Given the description of an element on the screen output the (x, y) to click on. 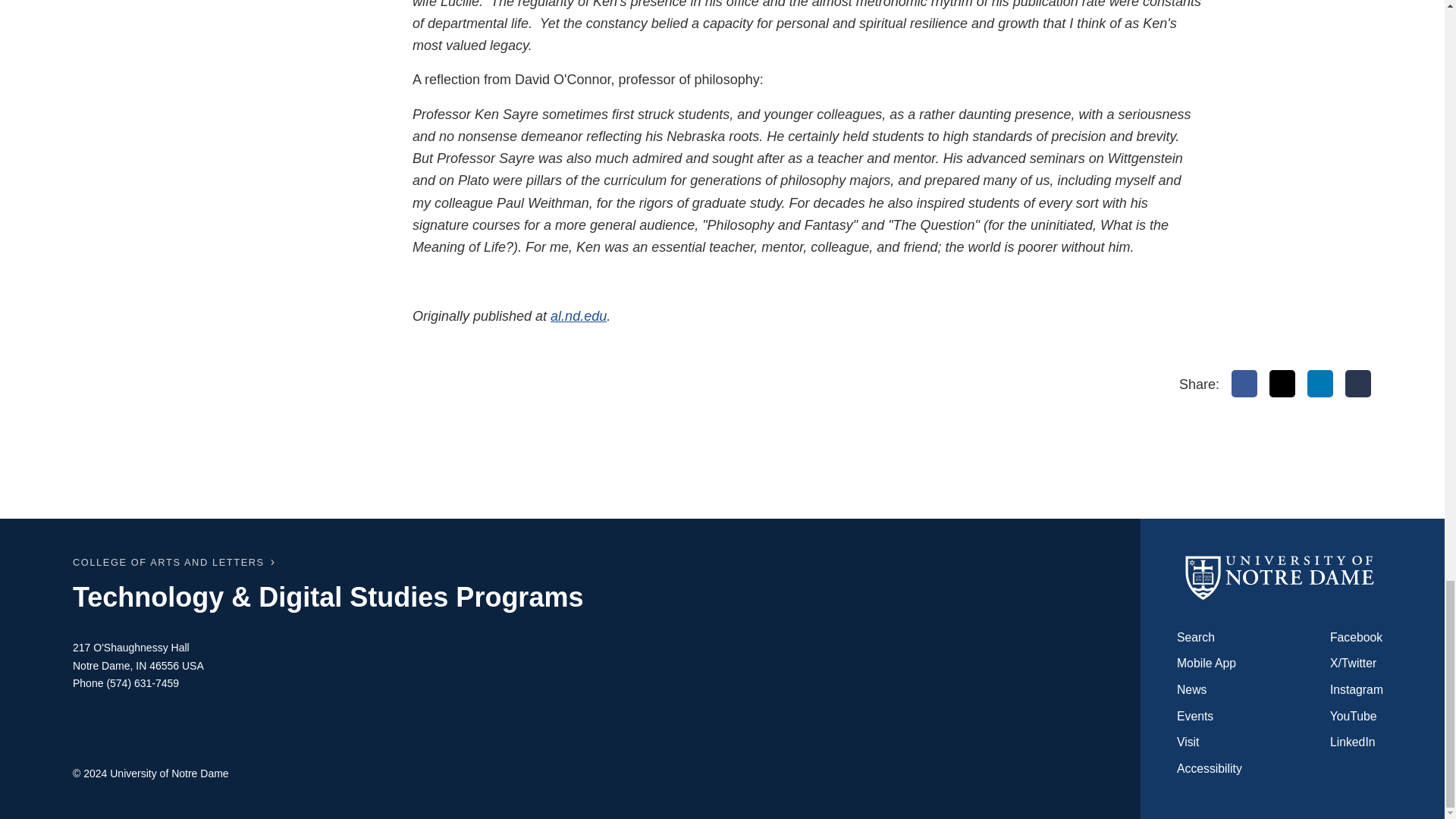
LinkedIn (1320, 383)
Email (1358, 383)
Facebook (1244, 383)
al.nd.edu (578, 315)
